Given the description of an element on the screen output the (x, y) to click on. 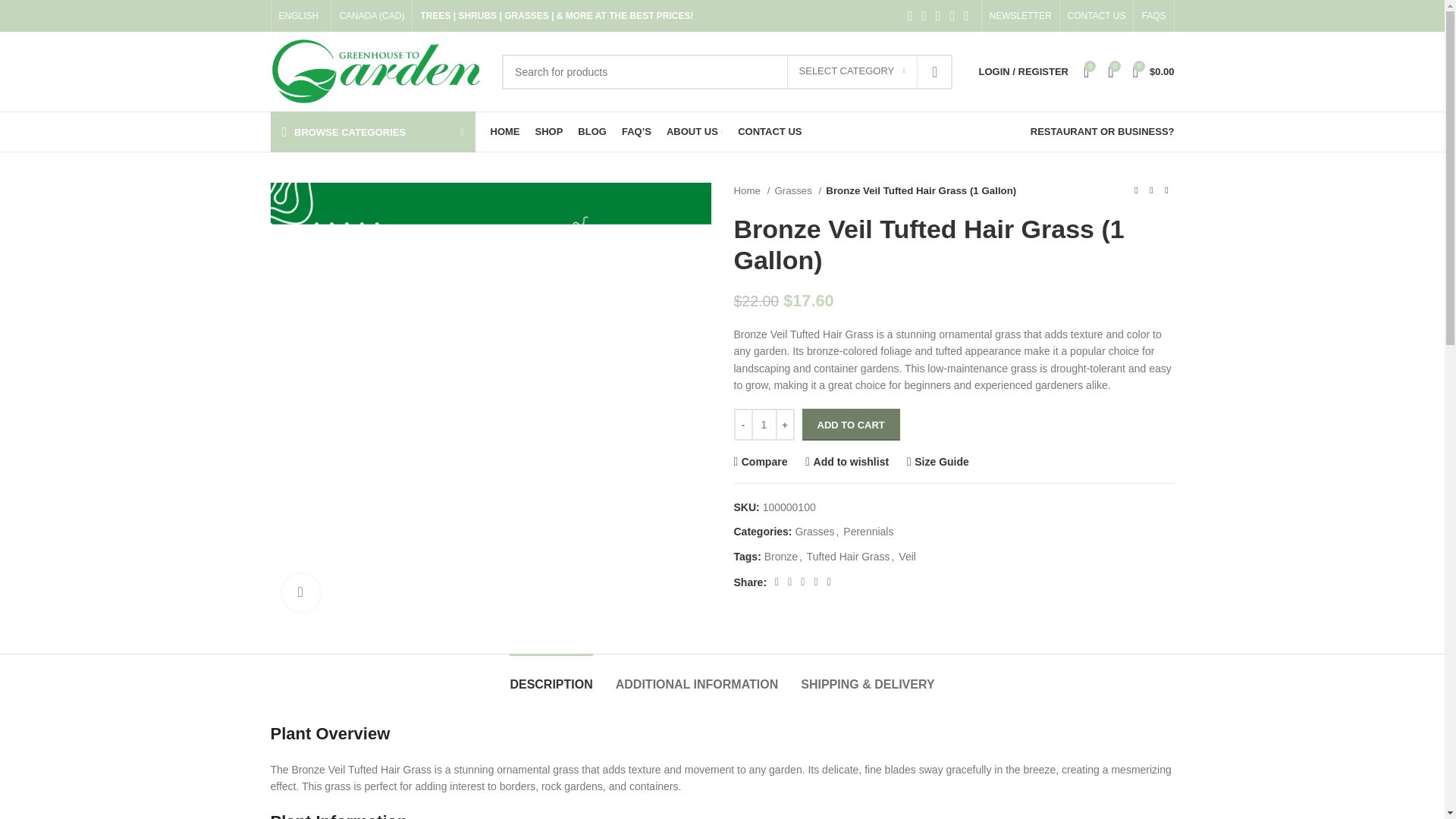
Shopping cart (1153, 71)
NEWSLETTER (1020, 15)
Search for products (727, 71)
SELECT CATEGORY (852, 71)
ENGLISH (301, 15)
SELECT CATEGORY (852, 71)
CONTACT US (1096, 15)
My account (1023, 71)
